Given the description of an element on the screen output the (x, y) to click on. 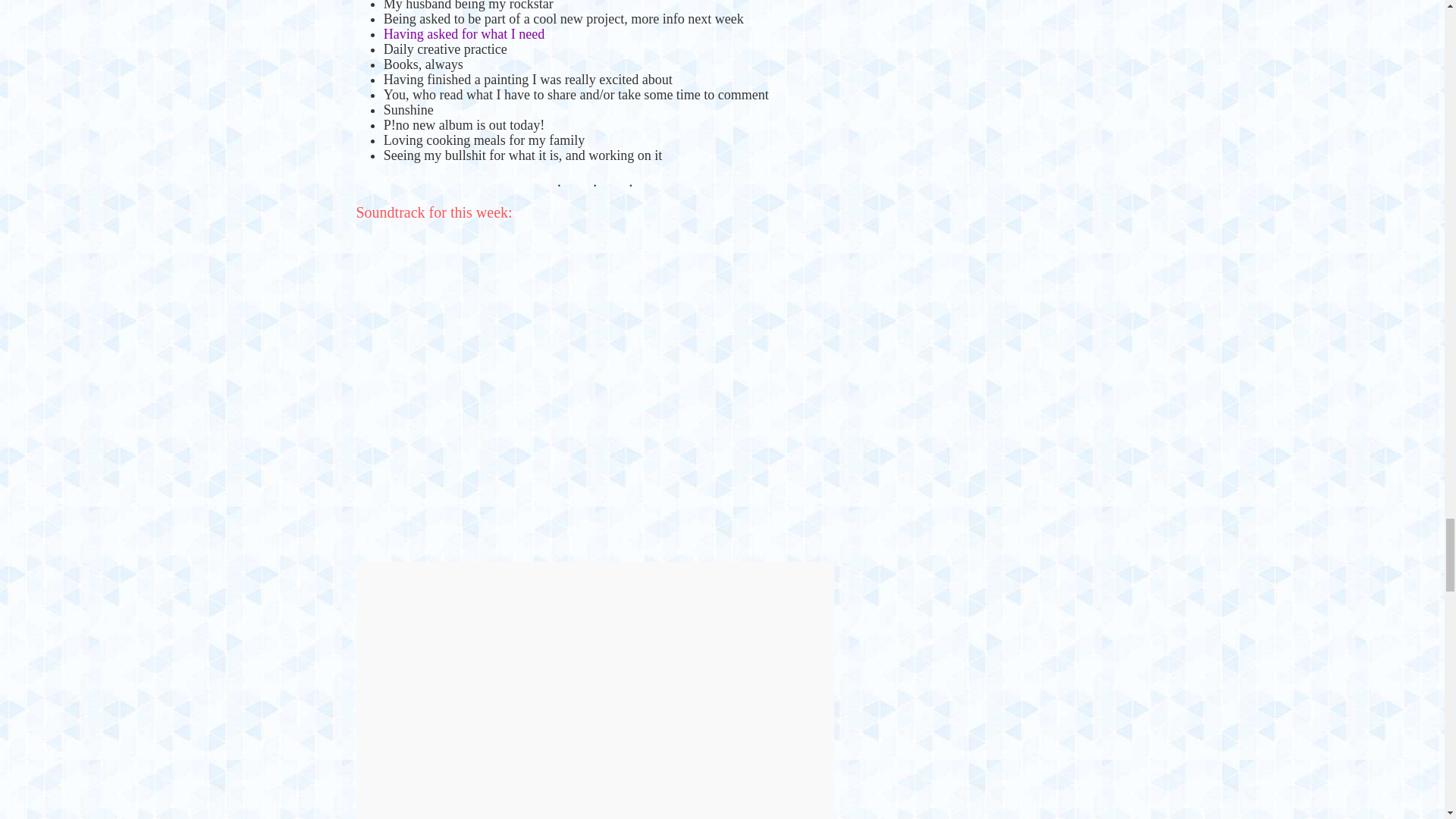
Having asked for what I need (464, 33)
